Given the description of an element on the screen output the (x, y) to click on. 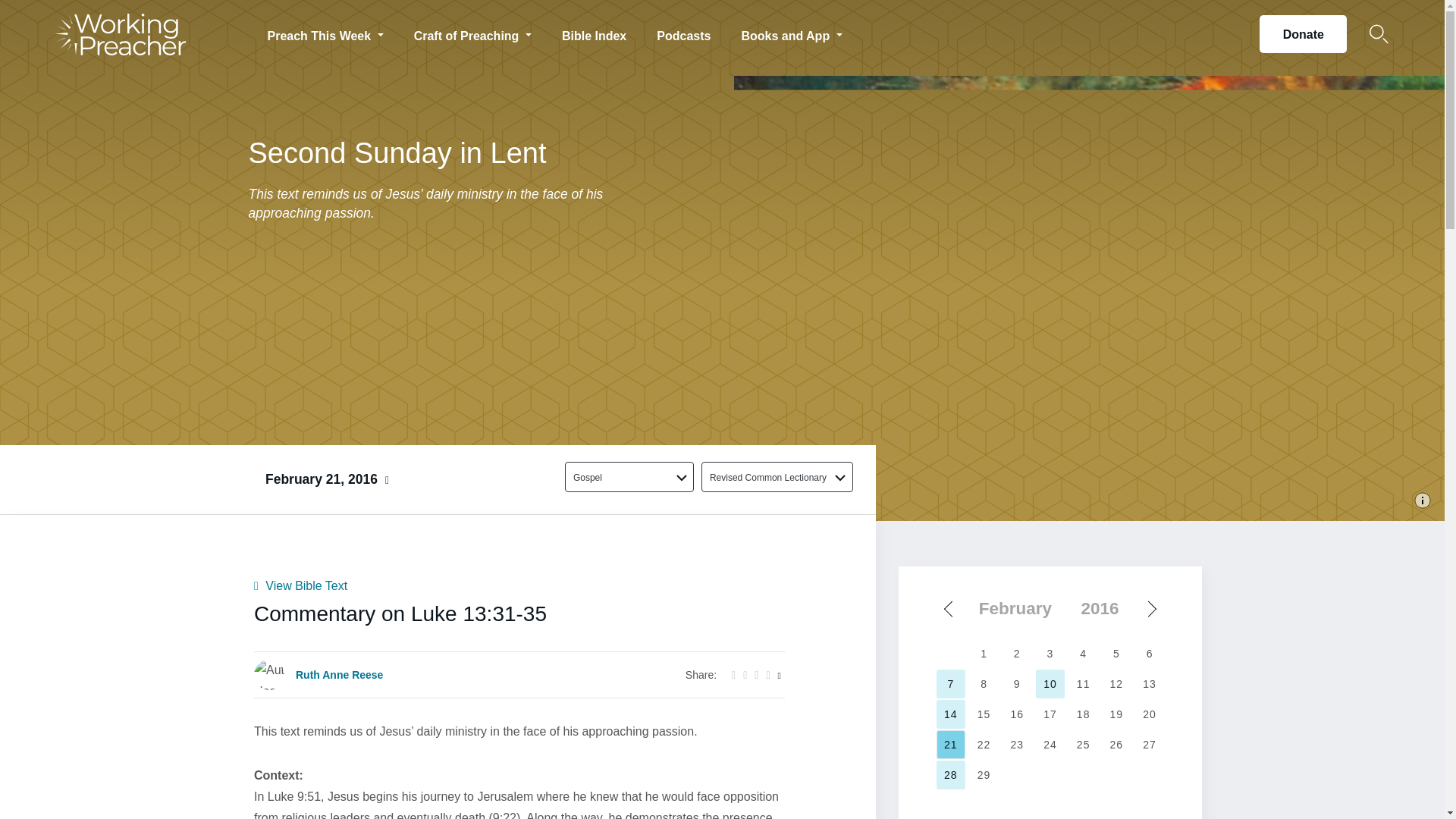
Craft of Preaching (472, 33)
Donate (1302, 34)
Bible Index (594, 33)
Craft of Preaching (472, 33)
Preach This Week (324, 33)
Podcasts (683, 33)
Bible Index (594, 33)
Books and App (791, 33)
Books and App (791, 33)
Podcasts (683, 33)
